Given the description of an element on the screen output the (x, y) to click on. 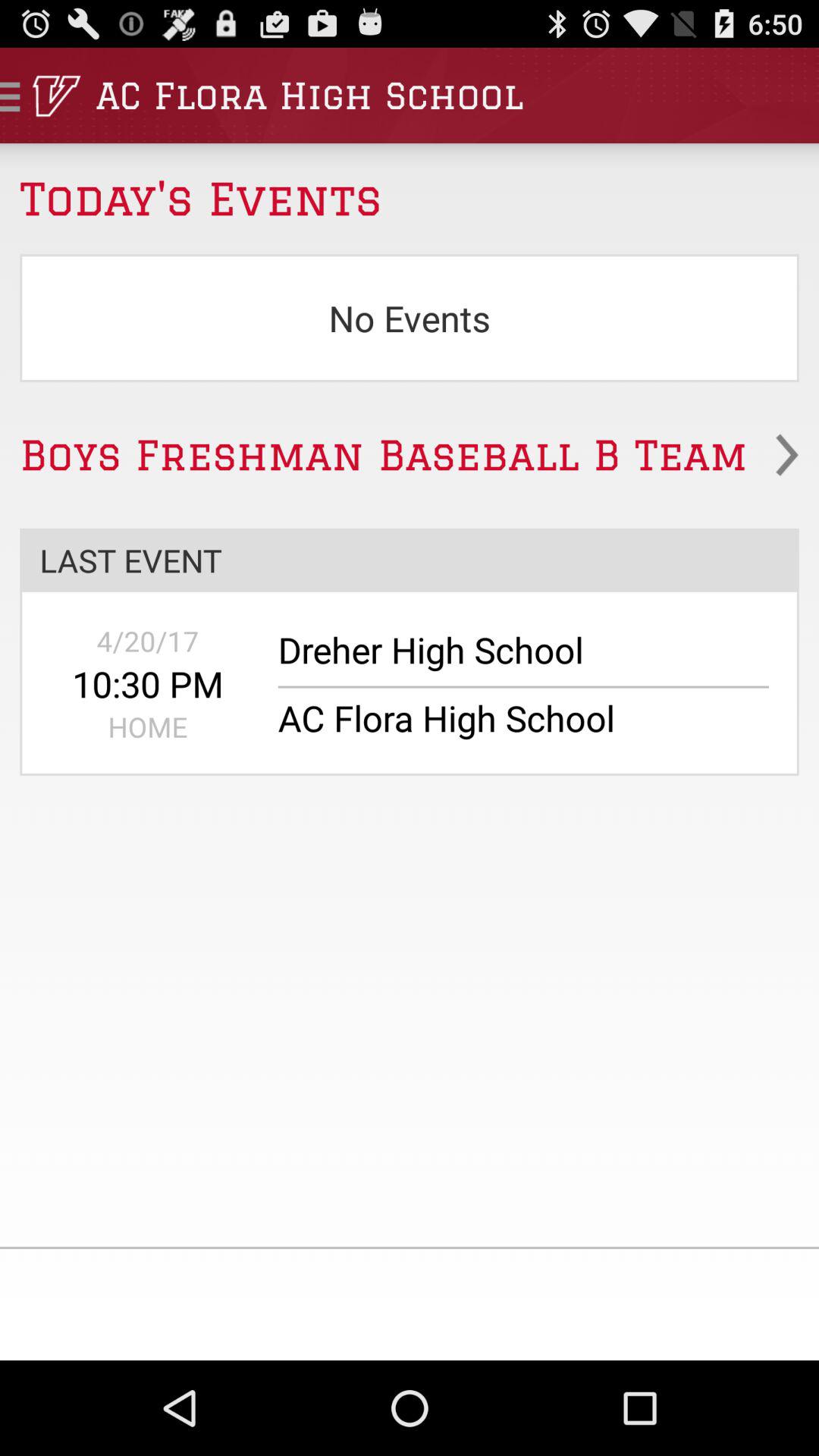
jump to the dreher high school icon (513, 657)
